Given the description of an element on the screen output the (x, y) to click on. 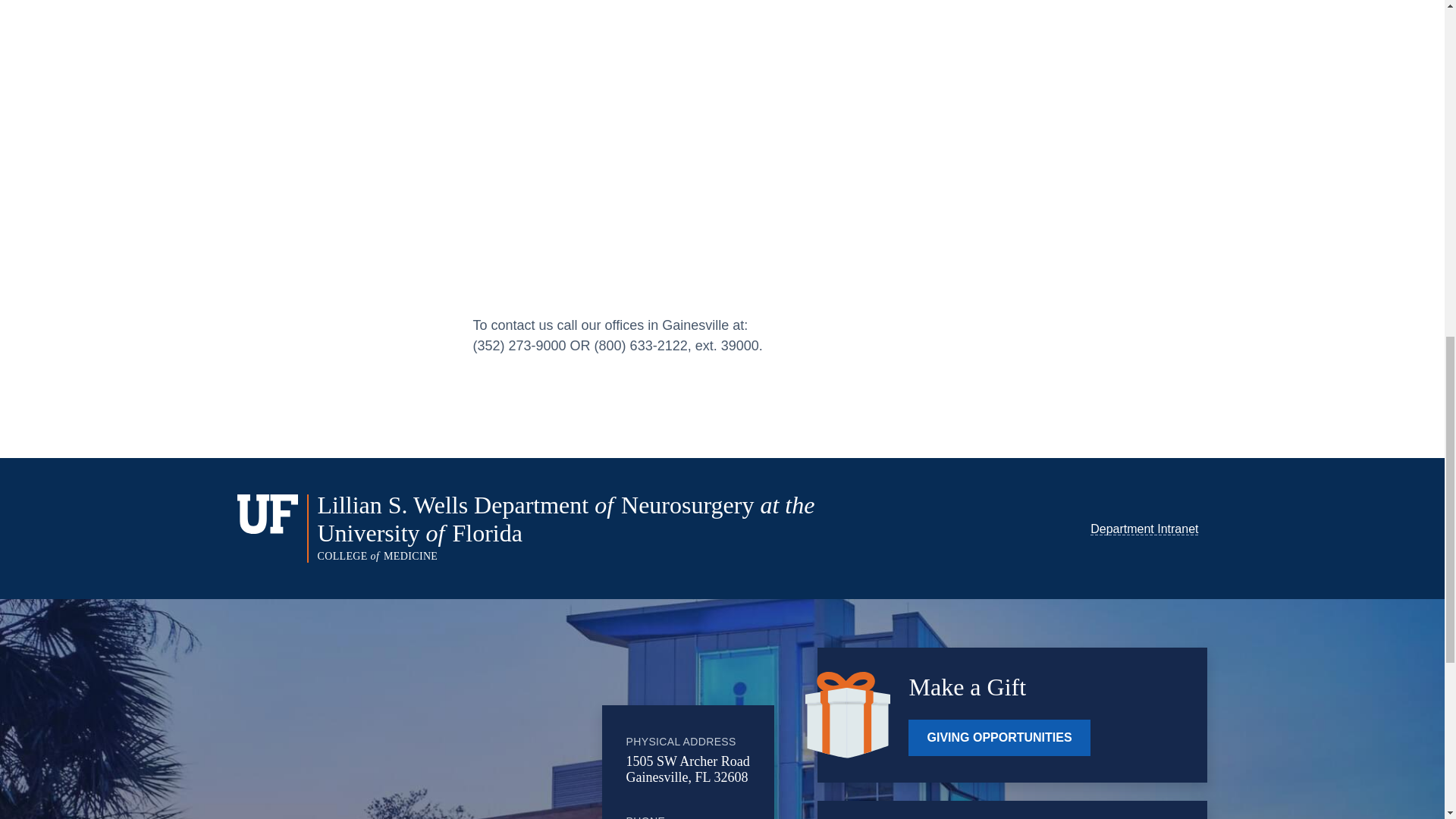
Department Intranet (1144, 528)
Google Maps Embed (477, 735)
